Given the description of an element on the screen output the (x, y) to click on. 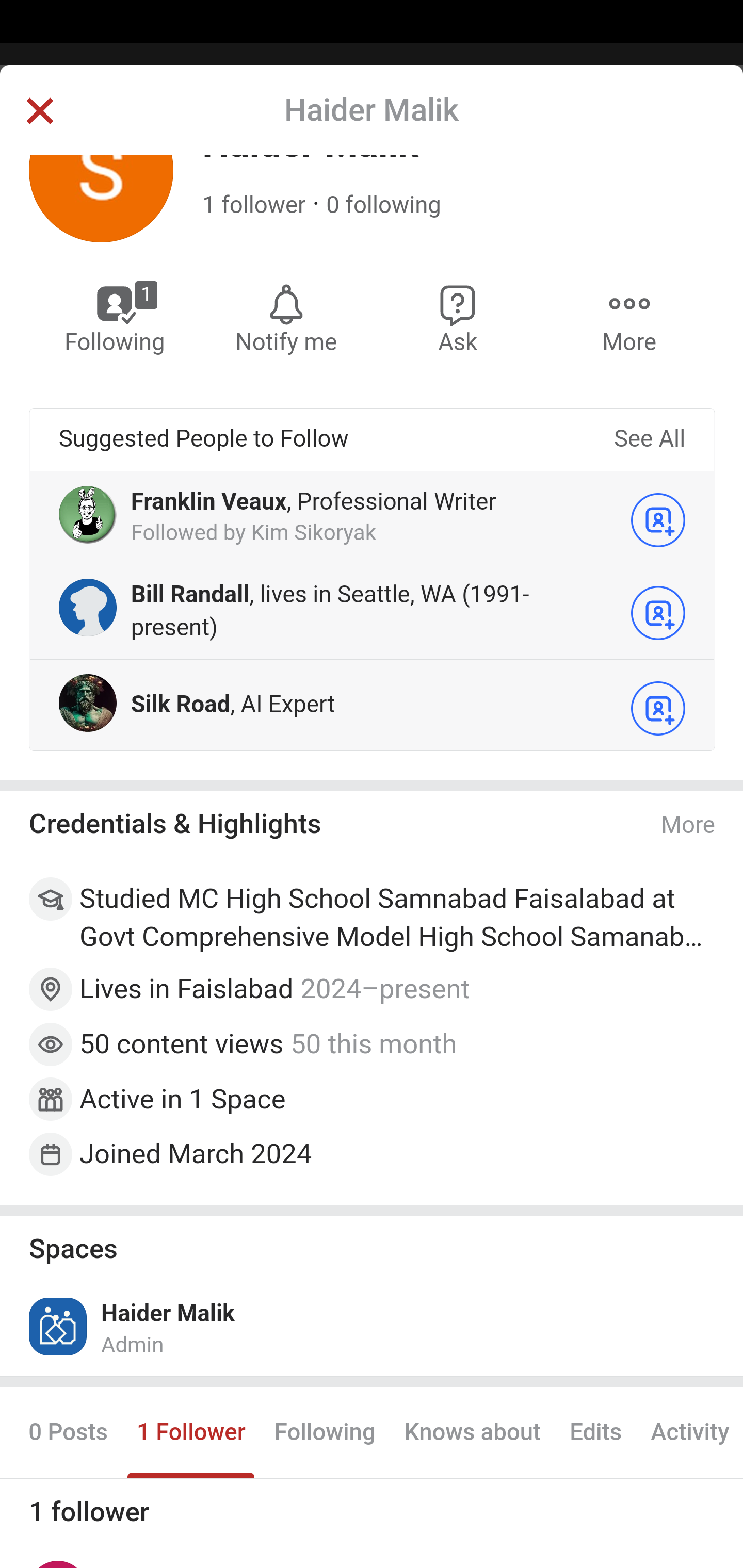
Back Answer (371, 125)
 (39, 112)
1 follower (254, 206)
0 following (383, 206)
Following Haider Malik 1 Following (115, 319)
Notify me (285, 319)
Ask (458, 319)
More (628, 319)
See All (649, 440)
Profile photo for Franklin Veaux (87, 515)
Franklin Veaux (208, 504)
Follow Franklin Veaux (658, 520)
Kim Sikoryak (312, 533)
Profile photo for Bill Randall (87, 608)
Bill Randall (190, 595)
Follow Bill Randall (658, 614)
Profile photo for Silk Road (87, 704)
Follow Silk Road (658, 710)
Silk Road (180, 705)
More (688, 827)
Icon for Haider Malik (58, 1327)
Haider Malik (168, 1316)
0 Posts (68, 1433)
1 Follower (190, 1433)
Following (324, 1433)
Knows about (471, 1433)
Edits (595, 1433)
Activity (689, 1433)
